Given the description of an element on the screen output the (x, y) to click on. 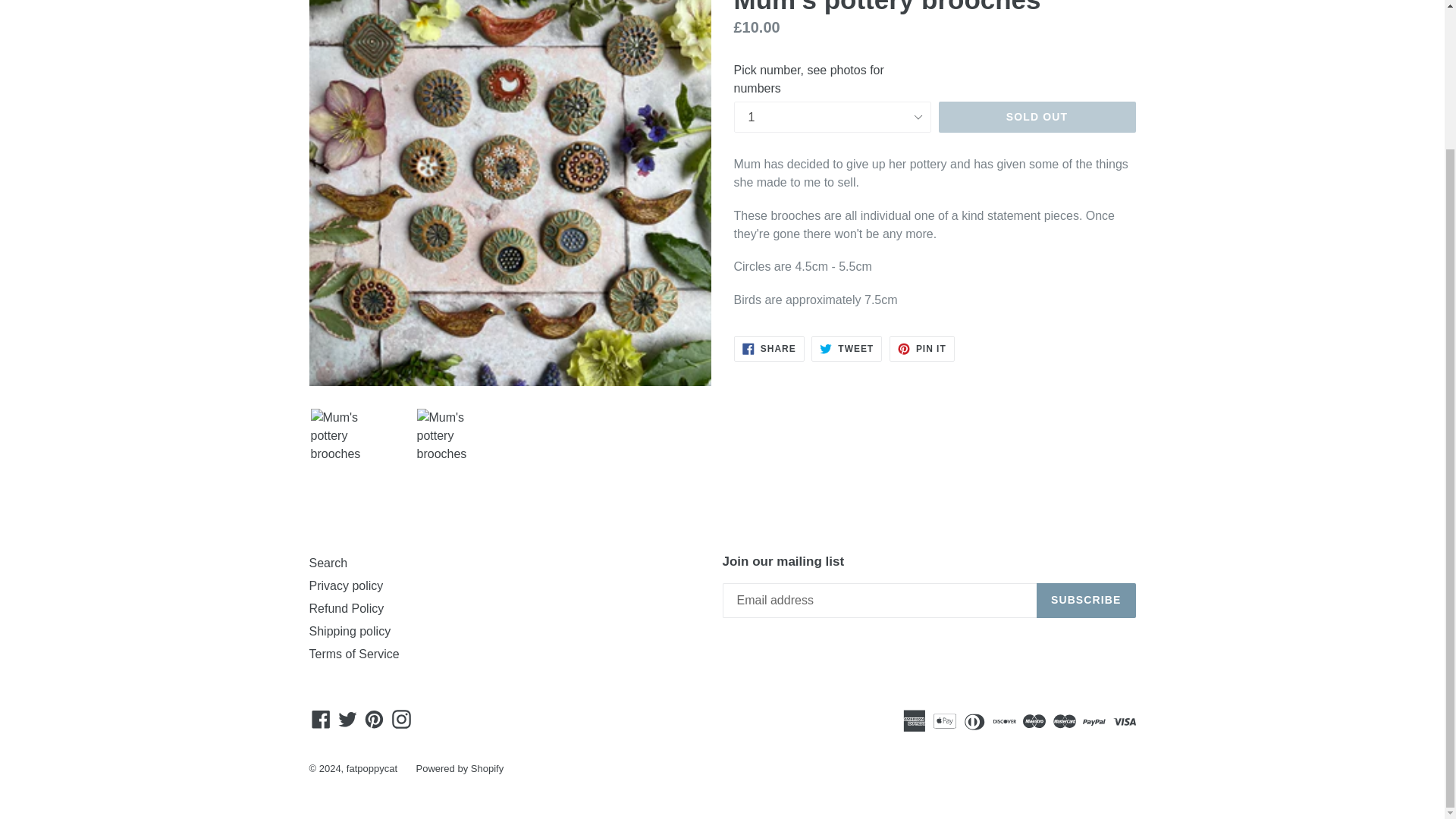
fatpoppycat on Pinterest (373, 719)
Shipping policy (349, 631)
Pin on Pinterest (922, 348)
SUBSCRIBE (922, 348)
Privacy policy (1085, 600)
fatpoppycat on Instagram (769, 348)
Share on Facebook (346, 585)
fatpoppycat on Facebook (401, 719)
Tweet on Twitter (769, 348)
Instagram (320, 719)
Search (846, 348)
SOLD OUT (401, 719)
